Given the description of an element on the screen output the (x, y) to click on. 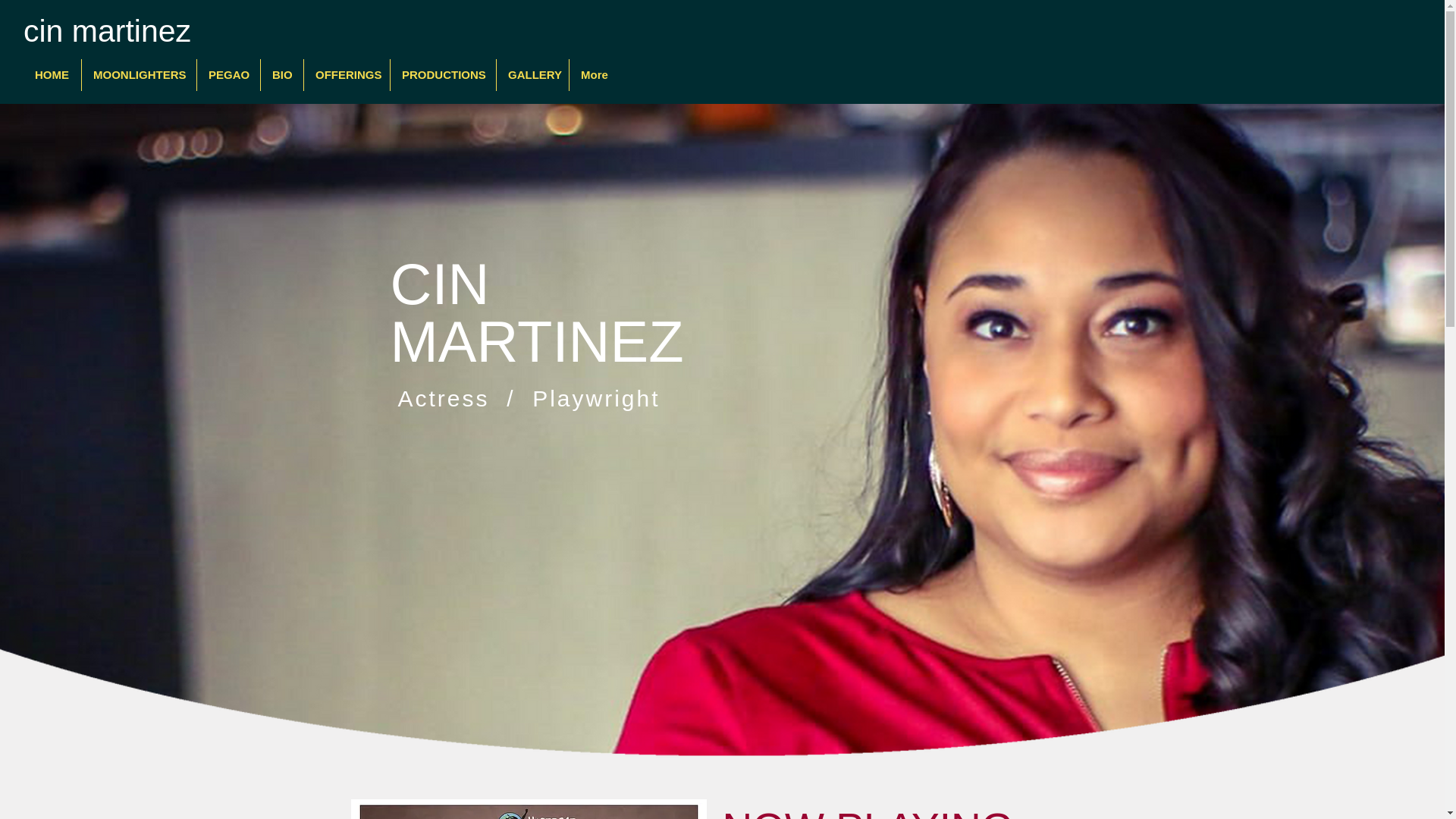
BIO (281, 74)
GALLERY (532, 74)
MOONLIGHTERS (138, 74)
HOME (52, 74)
PEGAO (228, 74)
OFFERINGS (347, 74)
PRODUCTIONS (443, 74)
